Given the description of an element on the screen output the (x, y) to click on. 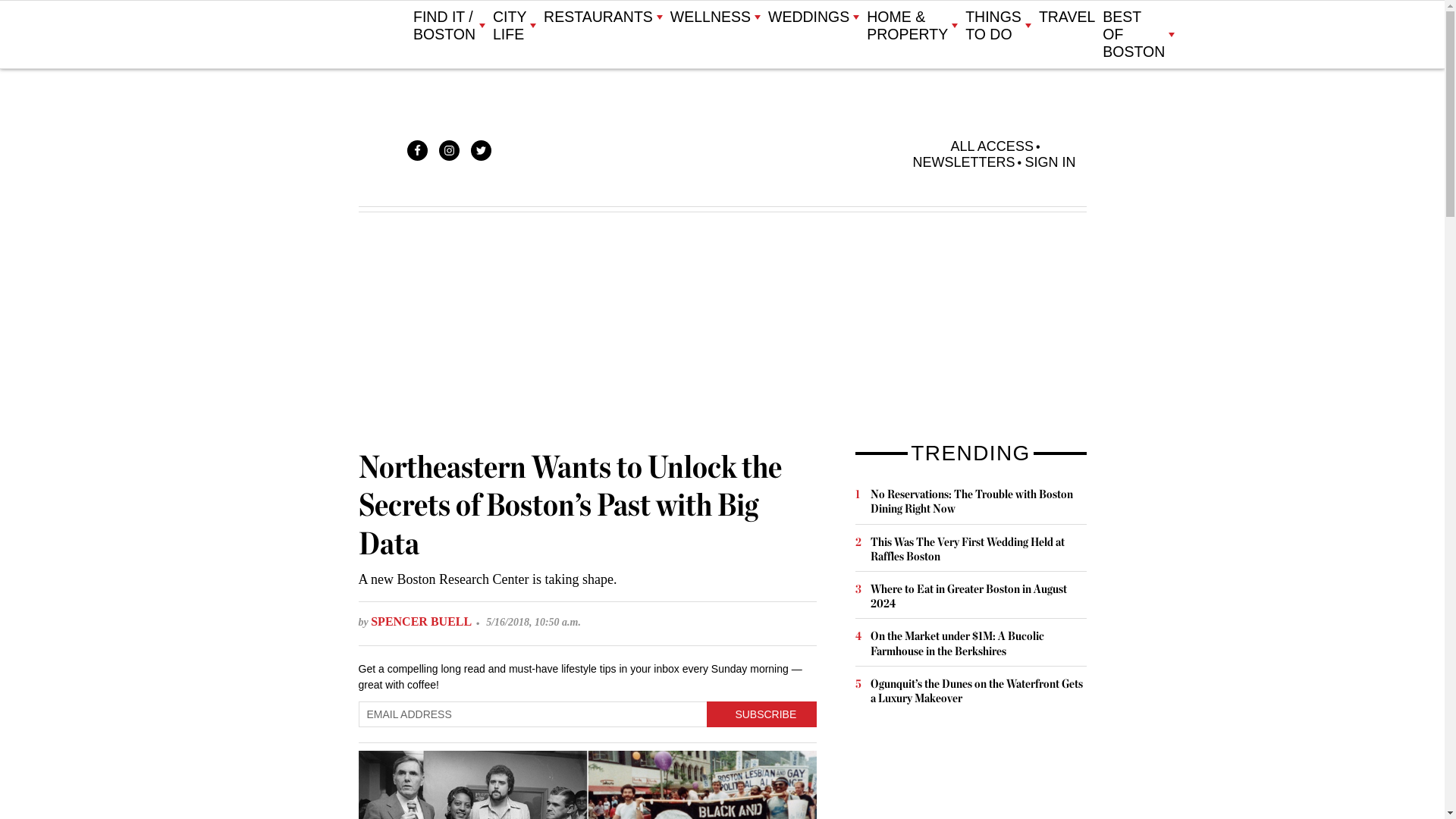
Subscribe (761, 714)
THINGS TO DO (997, 25)
3rd party ad content (969, 773)
RESTAURANTS (602, 16)
WELLNESS (714, 16)
WEDDINGS (813, 16)
